Given the description of an element on the screen output the (x, y) to click on. 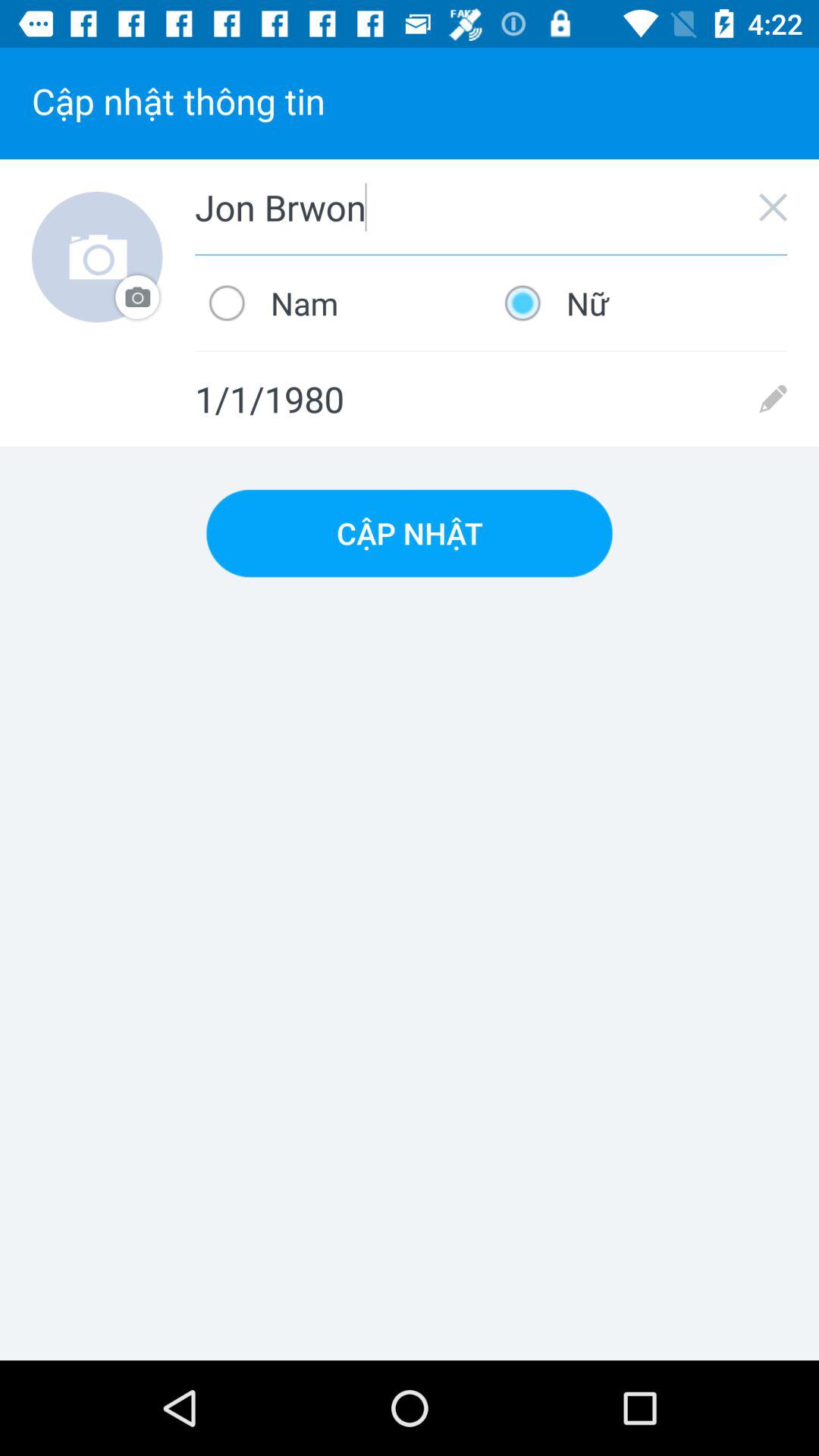
open the icon below the nam icon (491, 399)
